Given the description of an element on the screen output the (x, y) to click on. 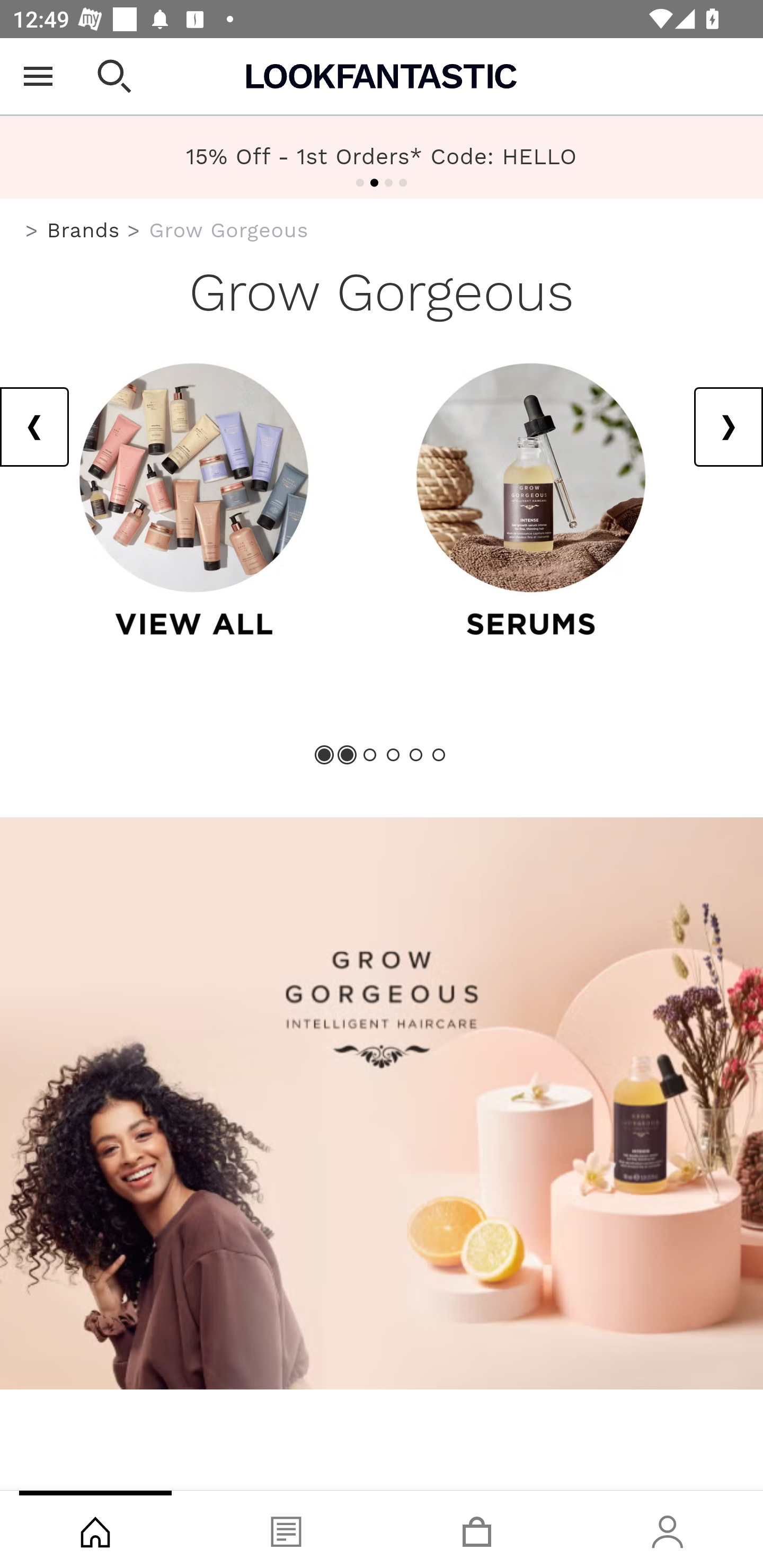
Open Menu (38, 75)
Open search (114, 75)
Lookfantastic USA (381, 75)
us.lookfantastic (32, 230)
Brands (82, 230)
View All (193, 501)
Hair Serums (530, 501)
Previous (35, 426)
Next (727, 426)
Showing Slide 1 (Current Item) (324, 754)
Showing Slide 2 (Current Item) (347, 754)
Slide 3 (369, 754)
Slide 4 (393, 754)
Slide 5 (415, 754)
Slide 6 (437, 754)
Shop Grow Gorgeous (381, 1103)
Shop, tab, 1 of 4 (95, 1529)
Blog, tab, 2 of 4 (285, 1529)
Basket, tab, 3 of 4 (476, 1529)
Account, tab, 4 of 4 (667, 1529)
